Given the description of an element on the screen output the (x, y) to click on. 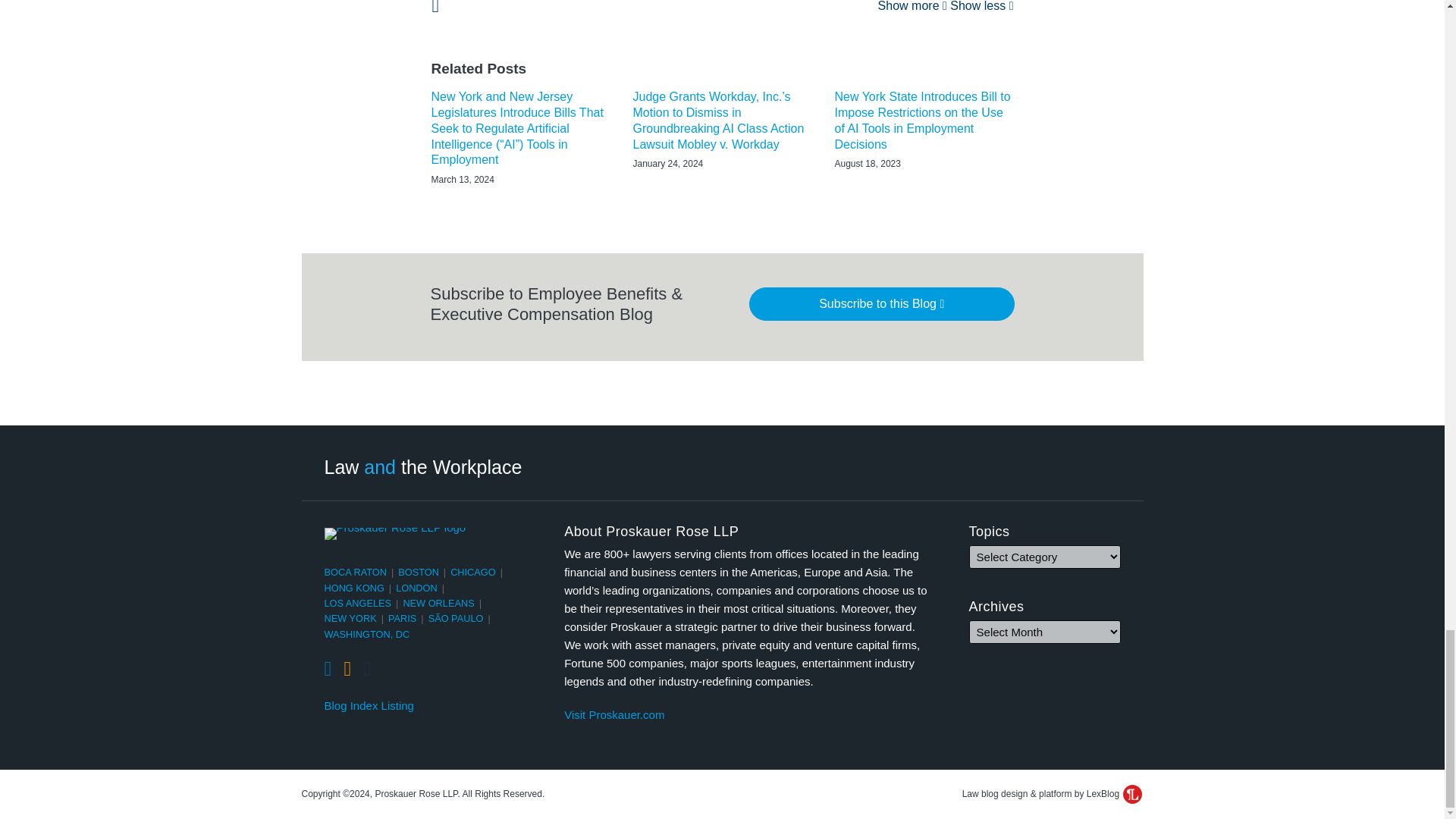
BOCA RATON (355, 572)
Show less (981, 6)
Show more (912, 6)
CHICAGO (472, 572)
Subscribe to this Blog (881, 304)
BOSTON (418, 572)
LexBlog Logo (1131, 793)
HONG KONG (354, 587)
Law and the Workplace (423, 466)
